Given the description of an element on the screen output the (x, y) to click on. 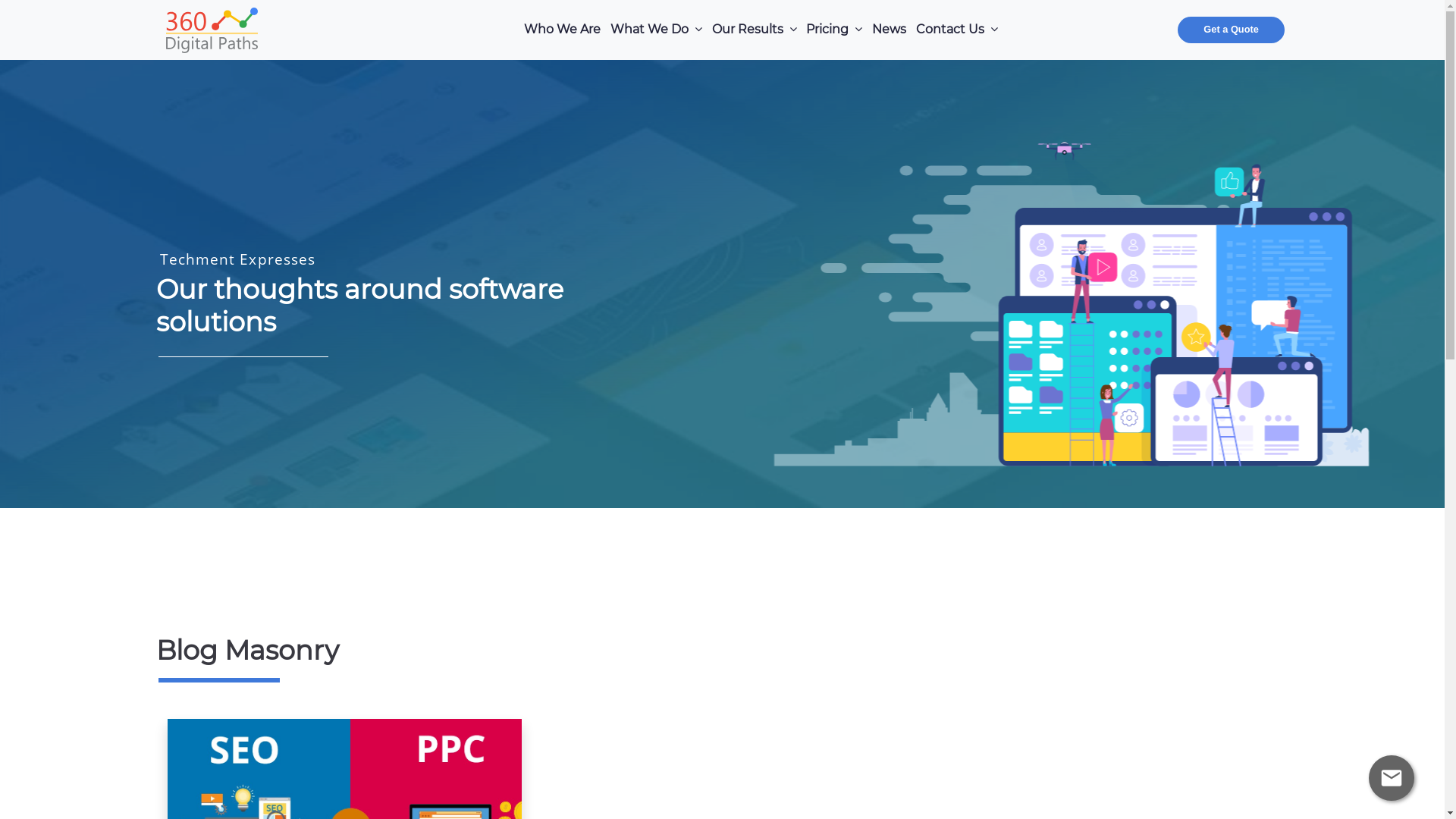
Who We Are Element type: text (562, 29)
What We Do  Element type: text (655, 29)
News Element type: text (889, 29)
Contact Us  Element type: text (956, 29)
Get a Quote Element type: text (1230, 29)
Leave a message Element type: hover (1391, 777)
Pricing  Element type: text (834, 29)
Our Results  Element type: text (753, 29)
